Given the description of an element on the screen output the (x, y) to click on. 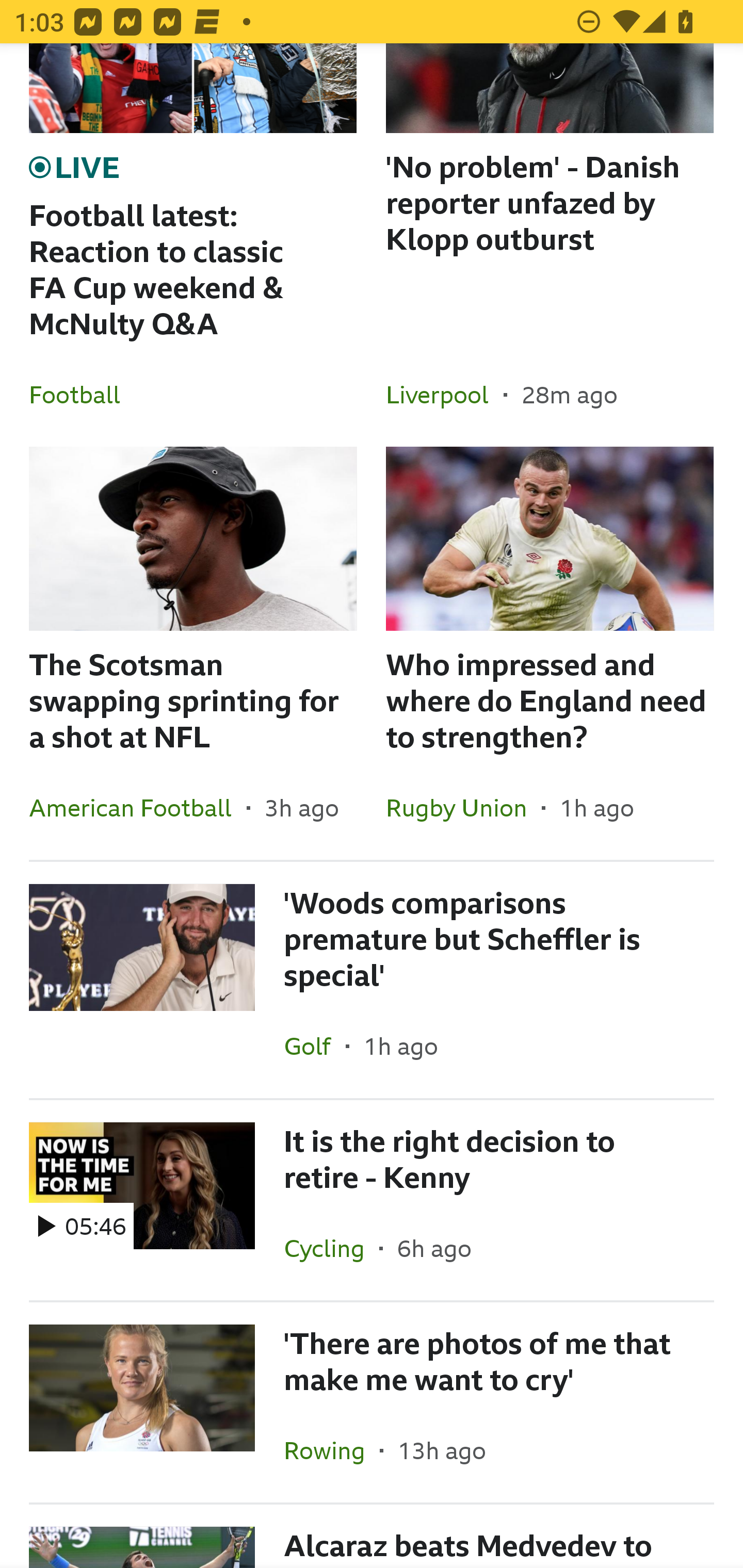
Football In the section Football (81, 393)
Liverpool In the section Liverpool (444, 393)
American Football In the section American Football (137, 807)
Rugby Union In the section Rugby Union (463, 807)
Golf In the section Golf (314, 1045)
Cycling In the section Cycling (330, 1247)
Rowing In the section Rowing (331, 1450)
